Given the description of an element on the screen output the (x, y) to click on. 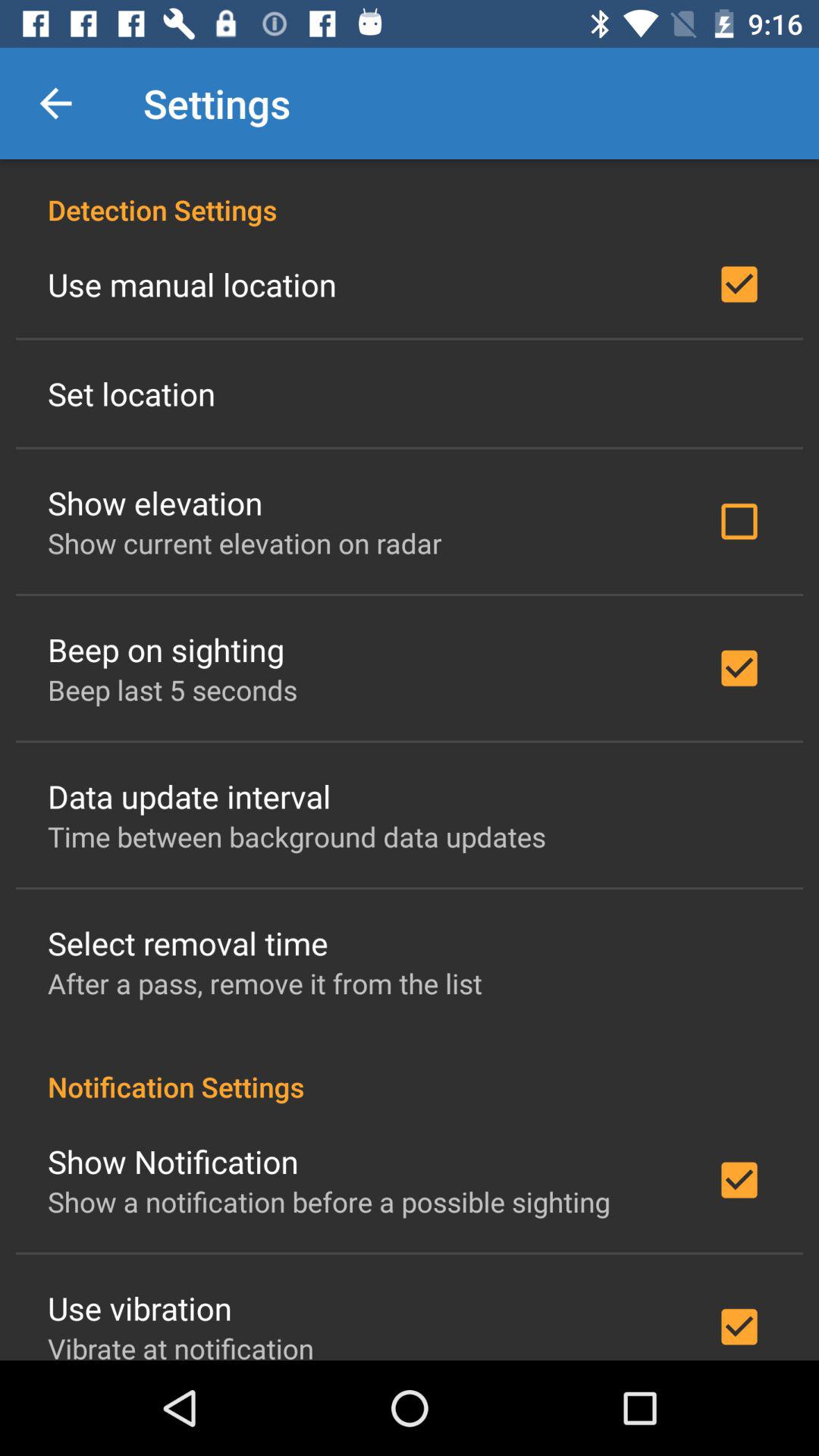
scroll to the beep last 5 (172, 689)
